Given the description of an element on the screen output the (x, y) to click on. 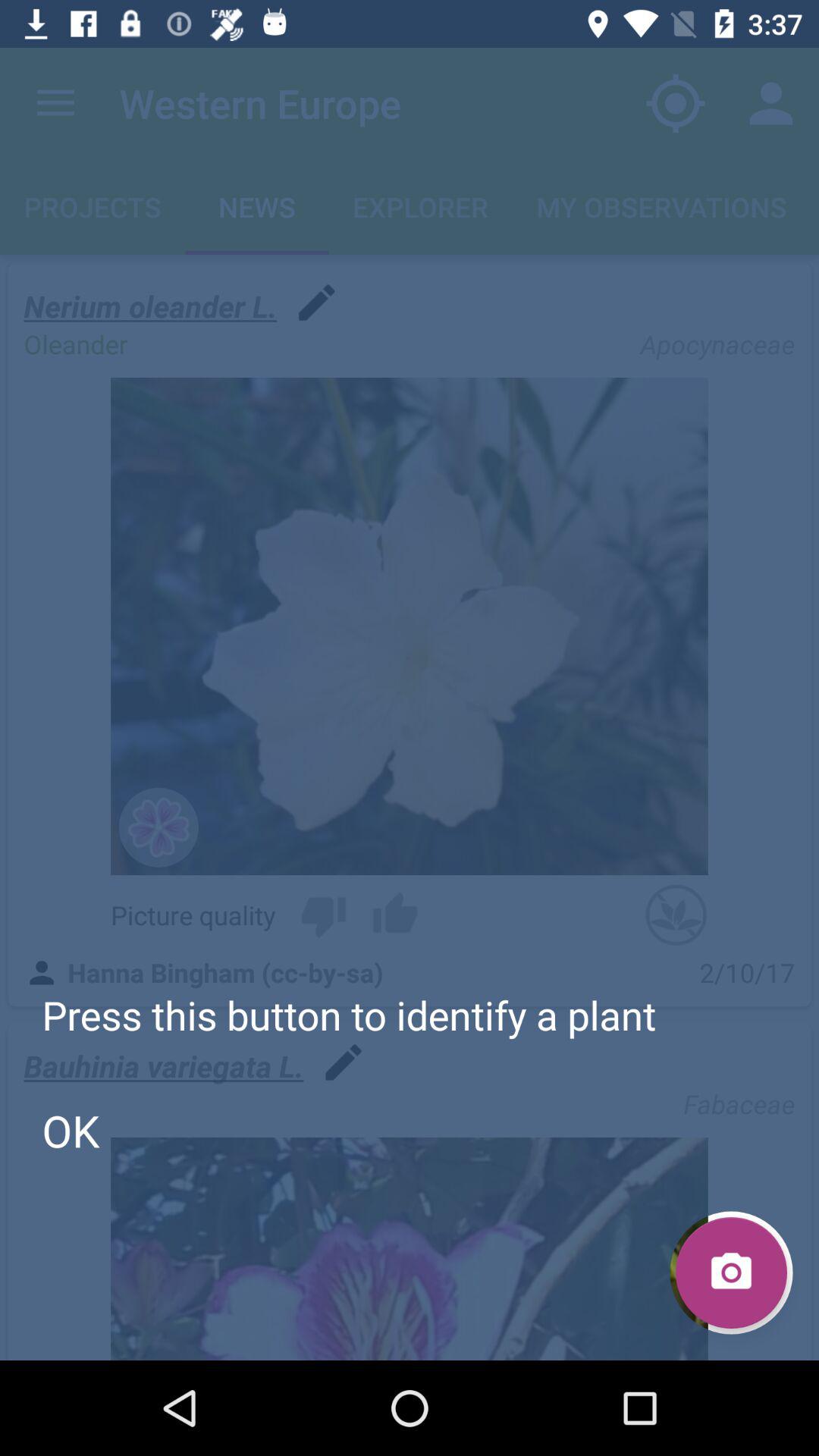
tap item below the press this button (70, 1130)
